Given the description of an element on the screen output the (x, y) to click on. 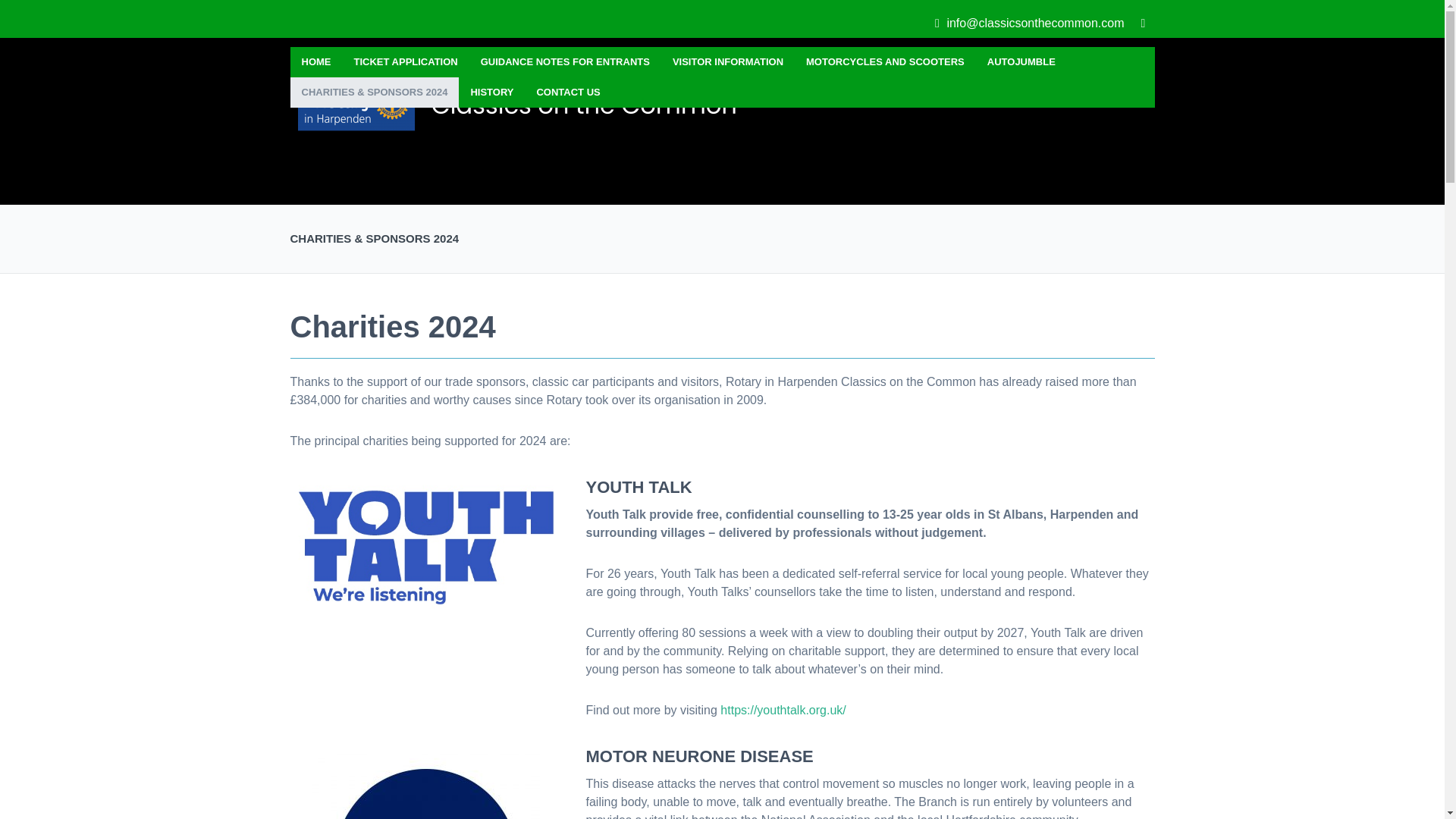
CONTACT US (567, 91)
HISTORY (491, 91)
VISITOR INFORMATION (727, 61)
email (1029, 23)
MOTORCYCLES AND SCOOTERS (884, 61)
Classics on the Common (524, 106)
TICKET APPLICATION (405, 61)
Herts - round blue (426, 782)
GUIDANCE NOTES FOR ENTRANTS (564, 61)
AUTOJUMBLE (1021, 61)
